Given the description of an element on the screen output the (x, y) to click on. 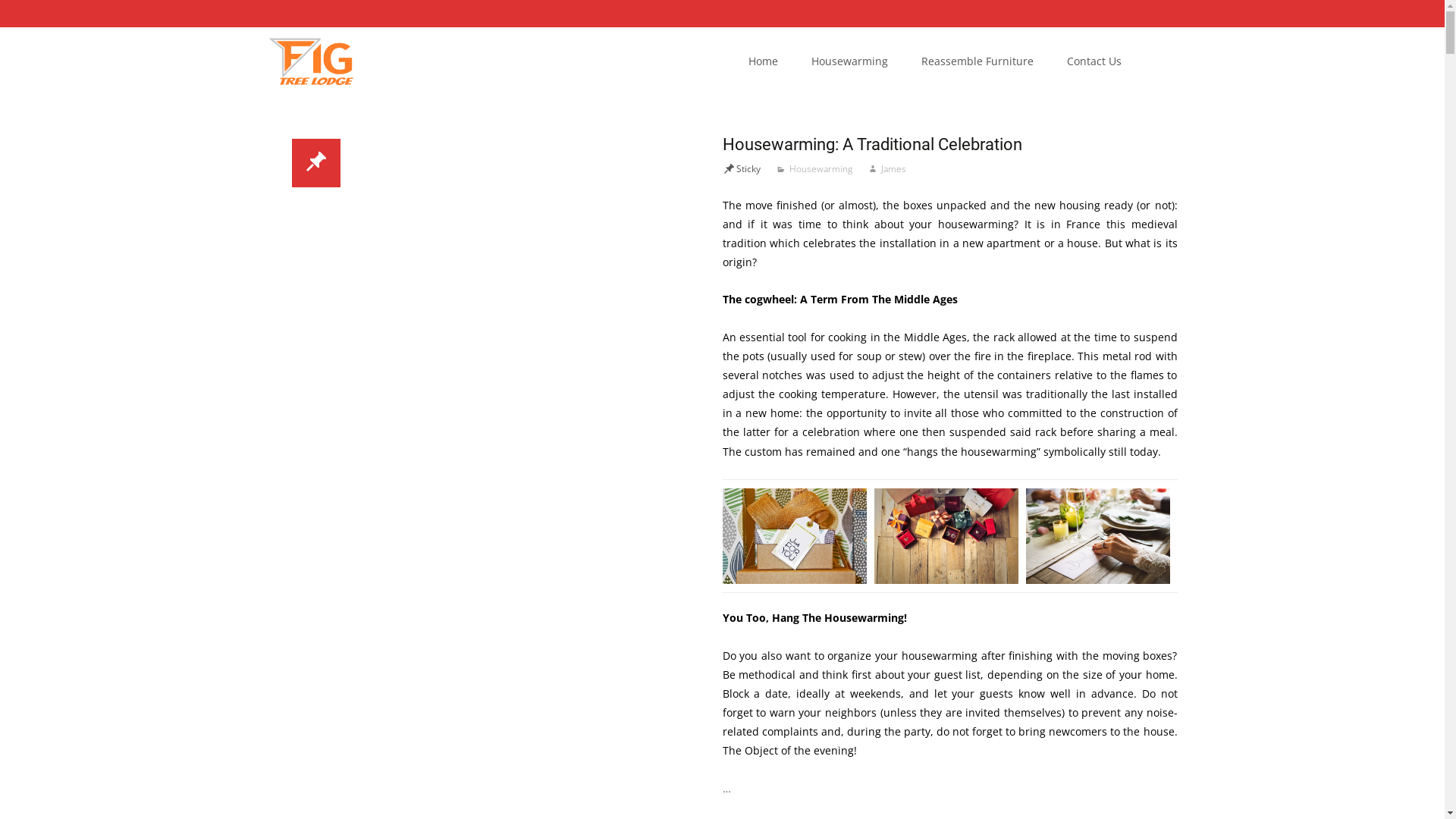
Fig Tree Lodge Element type: hover (297, 57)
Housewarming Element type: text (813, 168)
Contact Us Element type: text (1093, 61)
Housewarming Element type: text (849, 61)
Housewarming: A Traditional Celebration Element type: text (871, 143)
Home Element type: text (762, 61)
James Element type: text (886, 168)
Reassemble Furniture Element type: text (976, 61)
Search Element type: text (18, 15)
Search for: Element type: hover (1163, 63)
Skip to content Element type: text (732, 26)
